Given the description of an element on the screen output the (x, y) to click on. 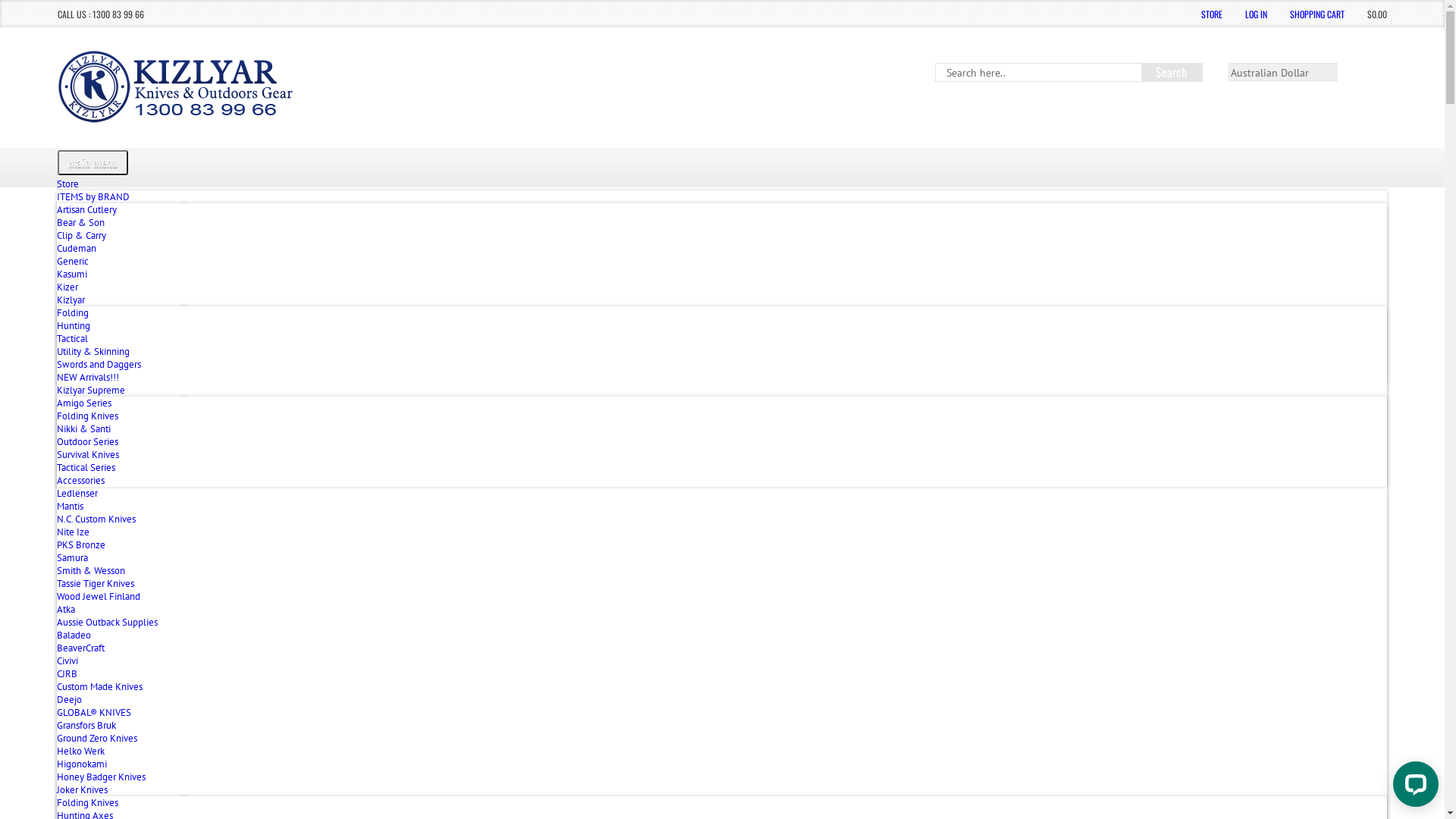
Folding Knives Element type: text (721, 415)
Gransfors Bruk Element type: text (721, 724)
Amigo Series Element type: text (721, 402)
Survival Knives Element type: text (721, 454)
Civivi Element type: text (721, 660)
Ground Zero Knives Element type: text (721, 737)
Tactical Element type: text (721, 338)
Clip & Carry Element type: text (721, 235)
Swords and Daggers Element type: text (721, 363)
Joker Knives Element type: text (721, 789)
Baladeo Element type: text (721, 634)
Hunting Element type: text (721, 325)
Cudeman Element type: text (721, 247)
N.C. Custom Knives Element type: text (721, 518)
Deejo Element type: text (721, 699)
Helko Werk Element type: text (721, 750)
Atka Element type: text (721, 608)
Tassie Tiger Knives Element type: text (721, 583)
PKS Bronze Element type: text (721, 544)
NEW Arrivals!!! Element type: text (721, 376)
Utility & Skinning Element type: text (721, 351)
Samura Element type: text (721, 557)
Kasumi Element type: text (721, 273)
CJRB Element type: text (721, 673)
Mantis Element type: text (721, 505)
Main Menu Element type: text (92, 162)
Artisan Cutlery Element type: text (721, 209)
Search Element type: text (1171, 71)
ITEMS by BRAND Element type: text (721, 196)
Tactical Series Element type: text (721, 467)
Aussie Outback Supplies Element type: text (721, 621)
Smith & Wesson Element type: text (721, 570)
Custom Made Knives Element type: text (721, 686)
Kizlyar Element type: text (721, 299)
$0.00 Element type: text (1376, 13)
Generic Element type: text (721, 260)
Nite Ize Element type: text (721, 531)
Honey Badger Knives Element type: text (721, 776)
Nikki & Santi Element type: text (721, 428)
Store Element type: text (67, 183)
Folding Knives Element type: text (721, 802)
Bear & Son Element type: text (721, 222)
Ledlenser Element type: text (721, 492)
STORE Element type: text (1211, 13)
LOG IN Element type: text (1256, 13)
Folding Element type: text (721, 312)
Kizer Element type: text (721, 286)
Higonokami Element type: text (721, 763)
SHOPPING CART Element type: text (1316, 13)
Accessories Element type: text (721, 479)
Wood Jewel Finland Element type: text (721, 595)
Outdoor Series Element type: text (721, 441)
BeaverCraft Element type: text (721, 647)
Kizlyar Supreme Element type: text (721, 389)
